Given the description of an element on the screen output the (x, y) to click on. 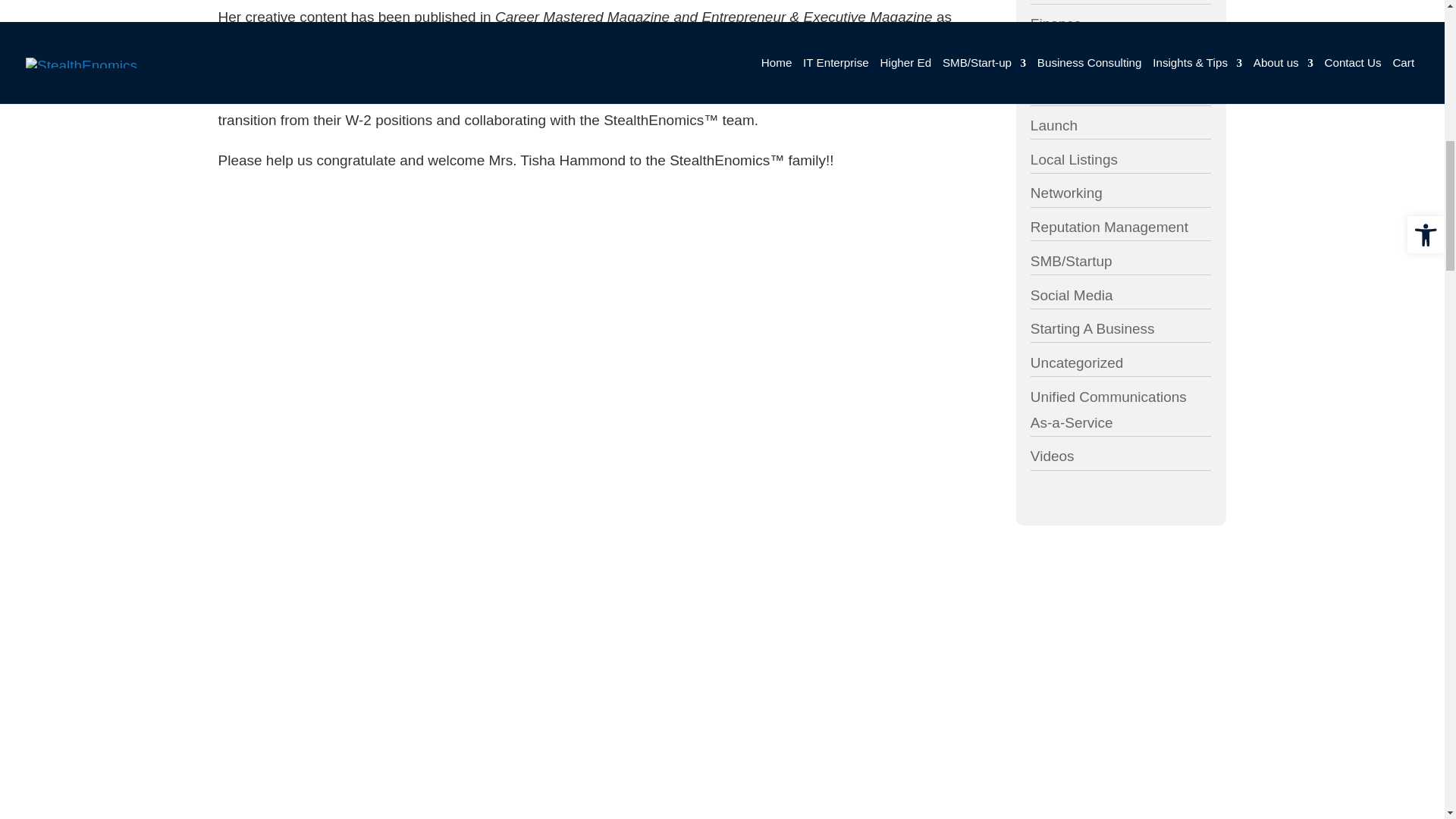
Help Desk (620, 303)
